Given the description of an element on the screen output the (x, y) to click on. 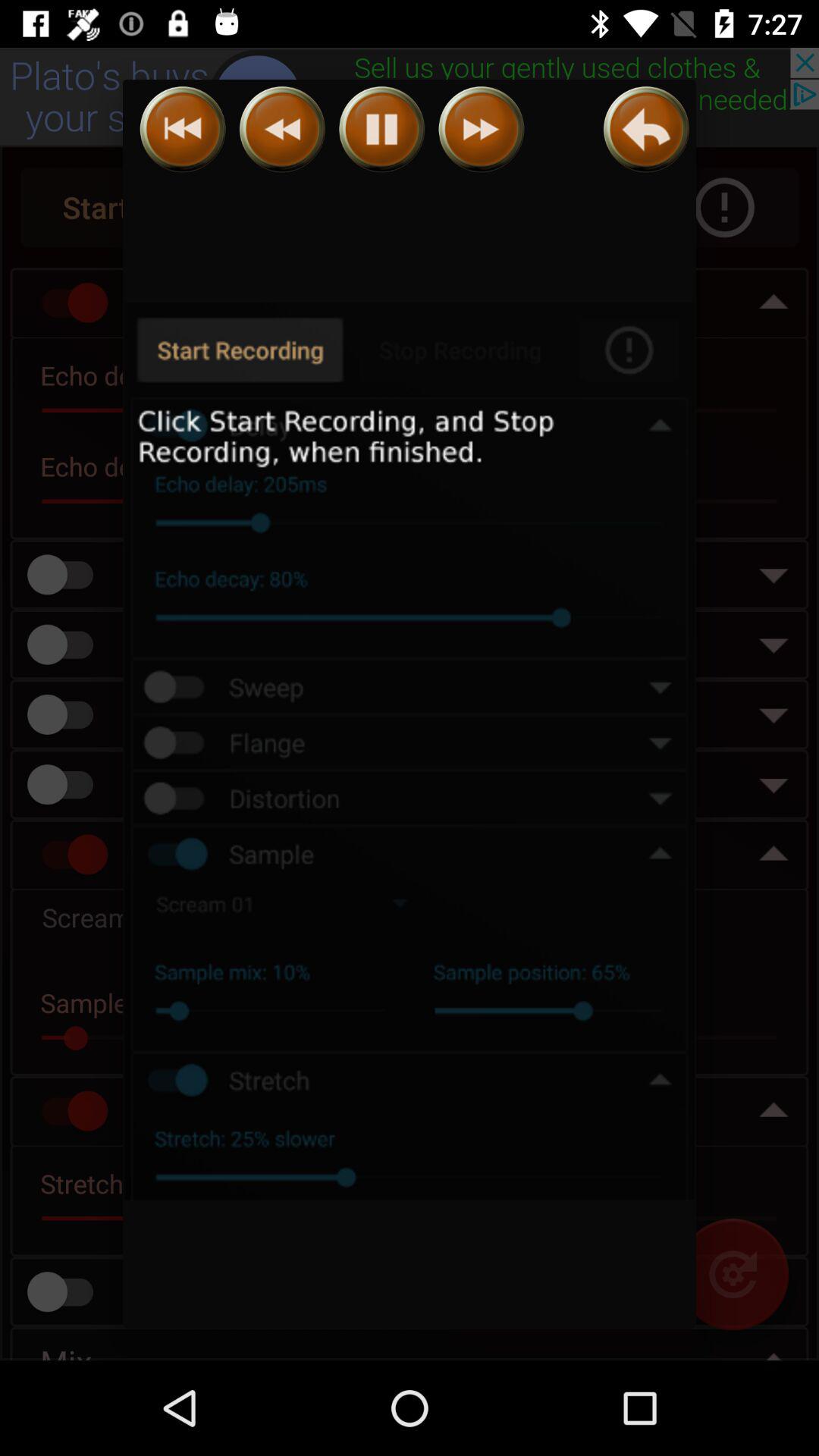
pause button (381, 129)
